Given the description of an element on the screen output the (x, y) to click on. 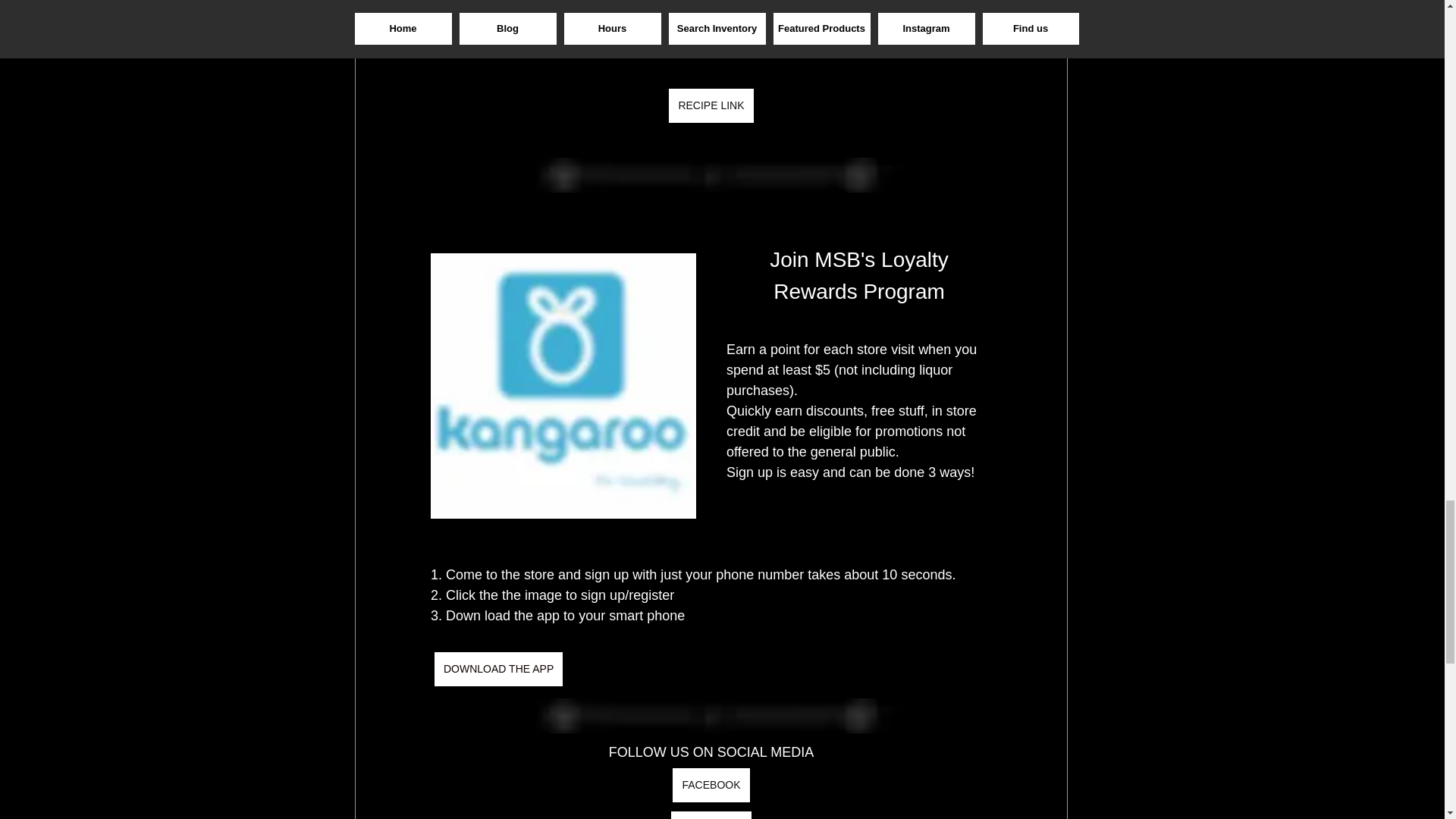
DOWNLOAD THE APP (497, 668)
INSTAGRAM (710, 815)
FACEBOOK (710, 785)
RECIPE LINK (710, 105)
